Given the description of an element on the screen output the (x, y) to click on. 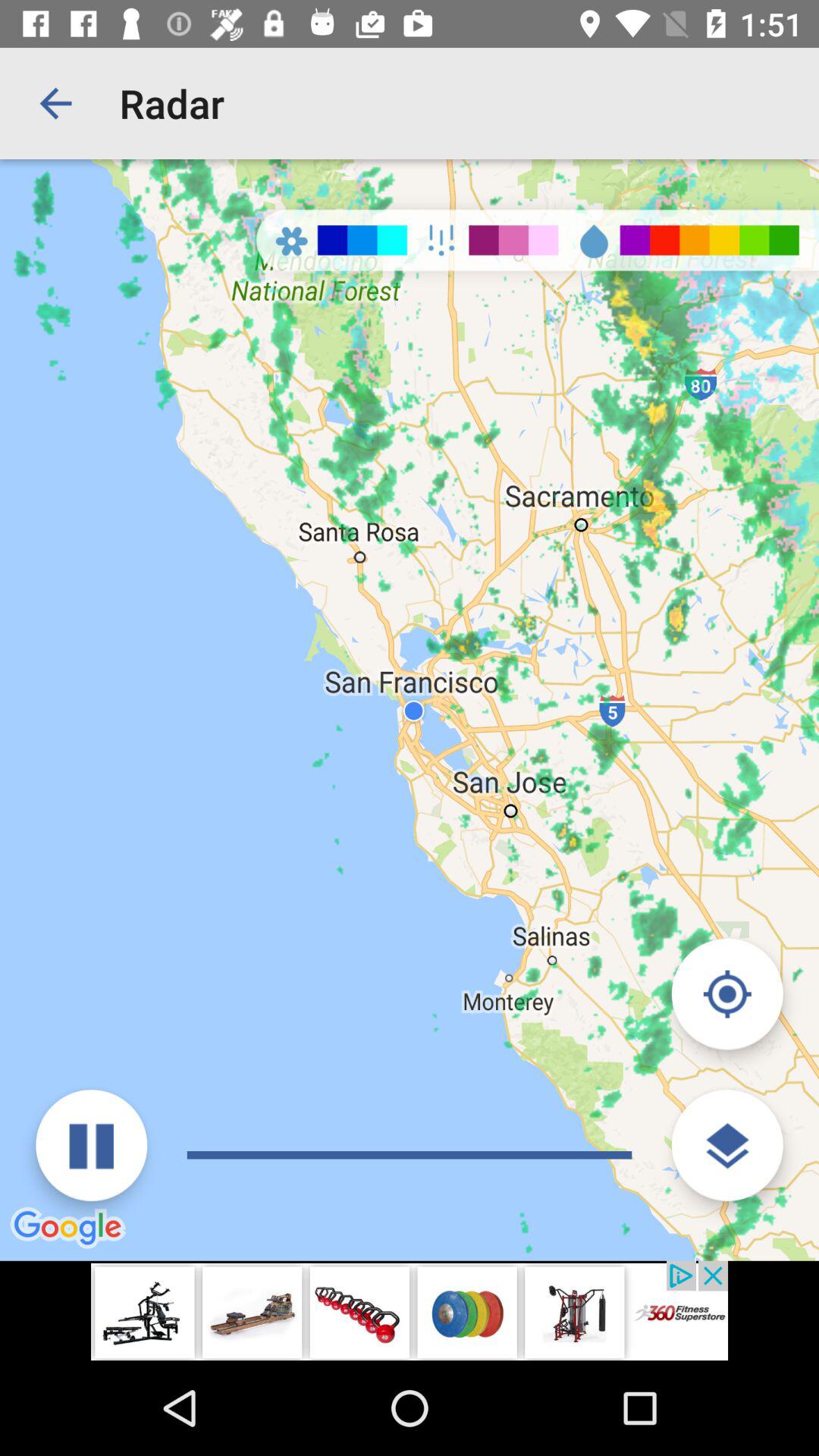
play (91, 1145)
